Given the description of an element on the screen output the (x, y) to click on. 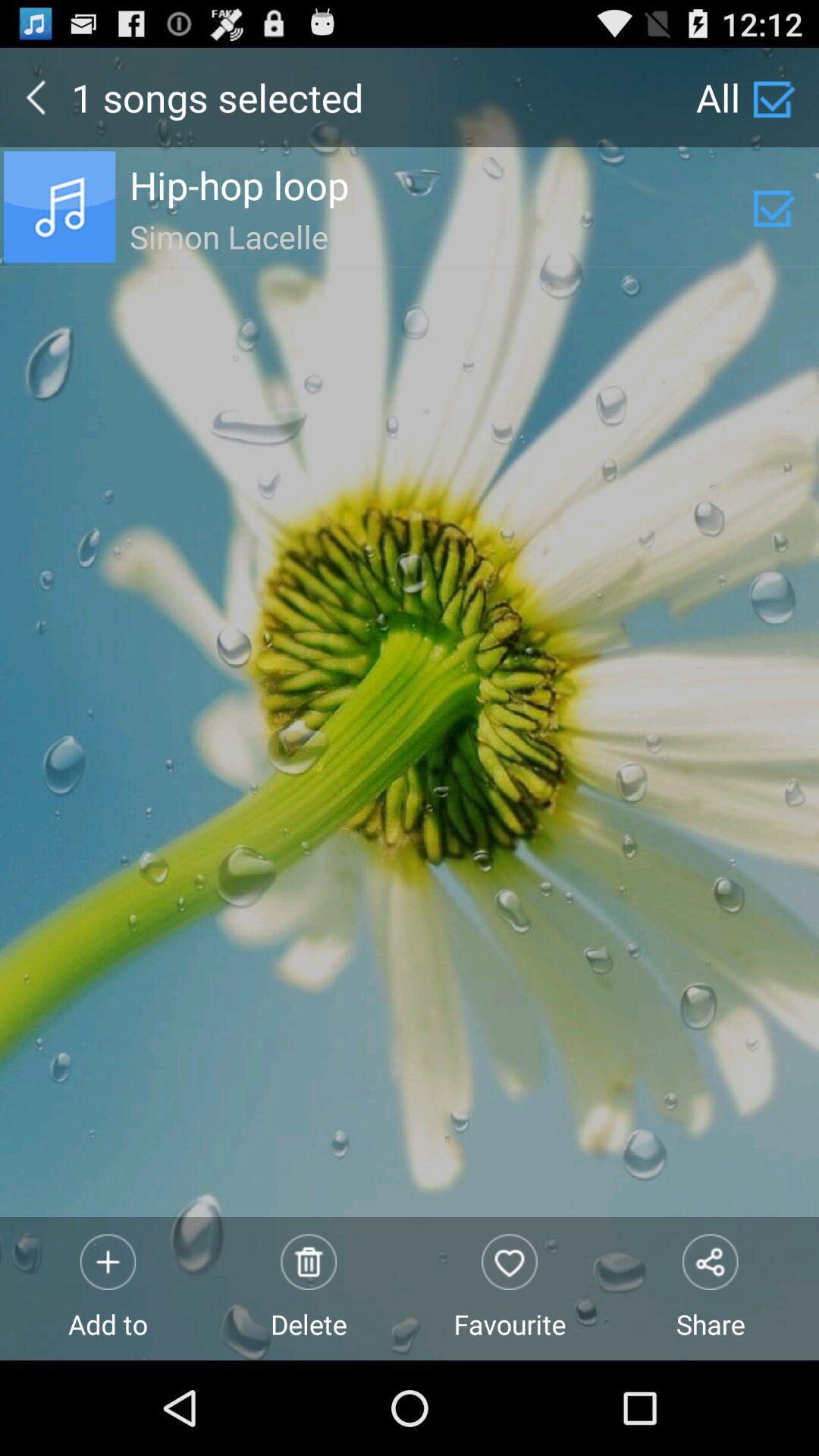
choose the icon next to share item (509, 1288)
